Given the description of an element on the screen output the (x, y) to click on. 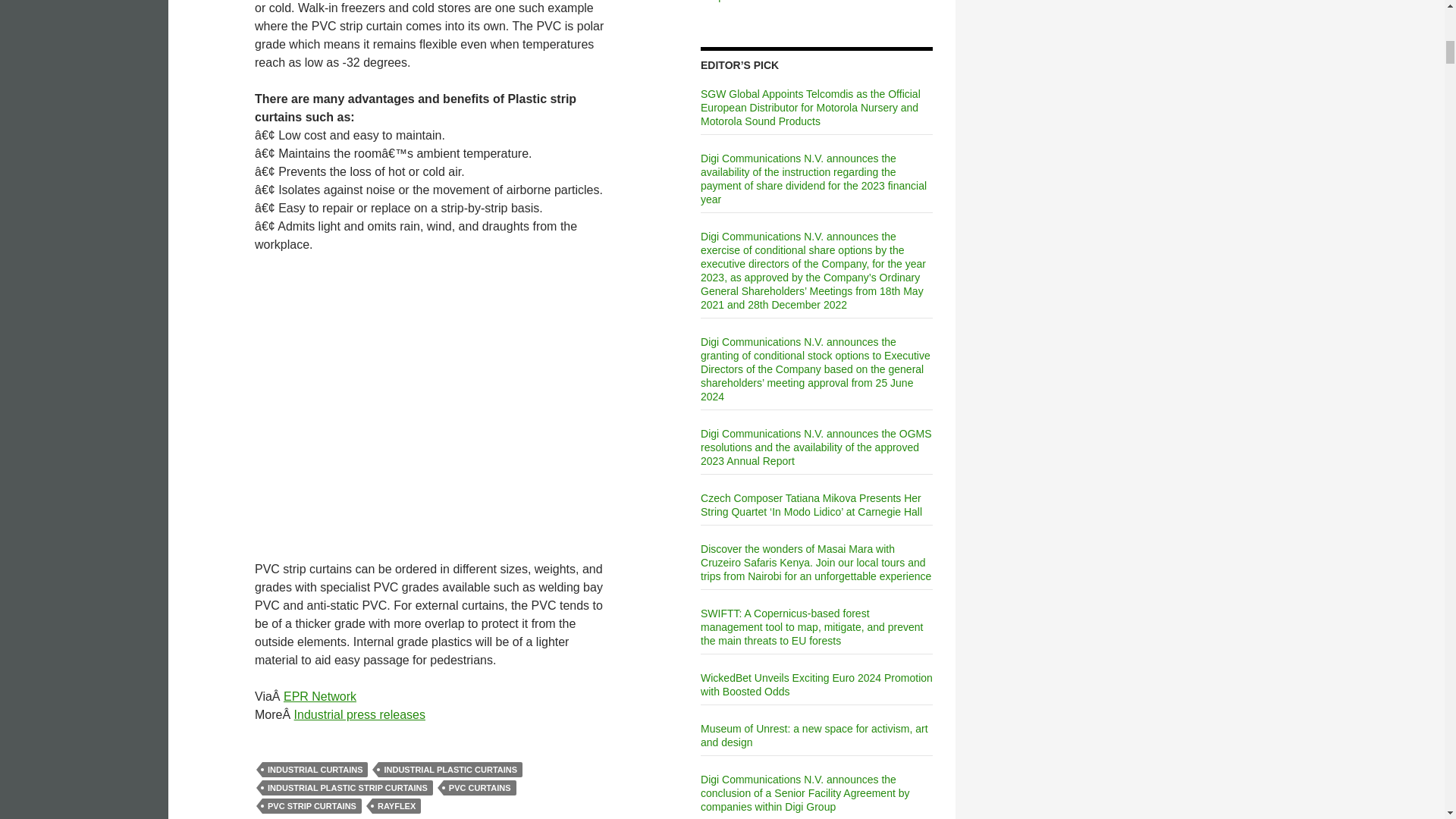
INDUSTRIAL PLASTIC CURTAINS (450, 769)
PVC STRIP CURTAINS (311, 806)
PVC CURTAINS (480, 787)
INDUSTRIAL CURTAINS (315, 769)
RAYFLEX (396, 806)
Industrial press releases (359, 714)
EPR Network (319, 696)
Welcome to Rayflex Group - PVC Strip Curtain Specialists (434, 404)
INDUSTRIAL PLASTIC STRIP CURTAINS (347, 787)
